Given the description of an element on the screen output the (x, y) to click on. 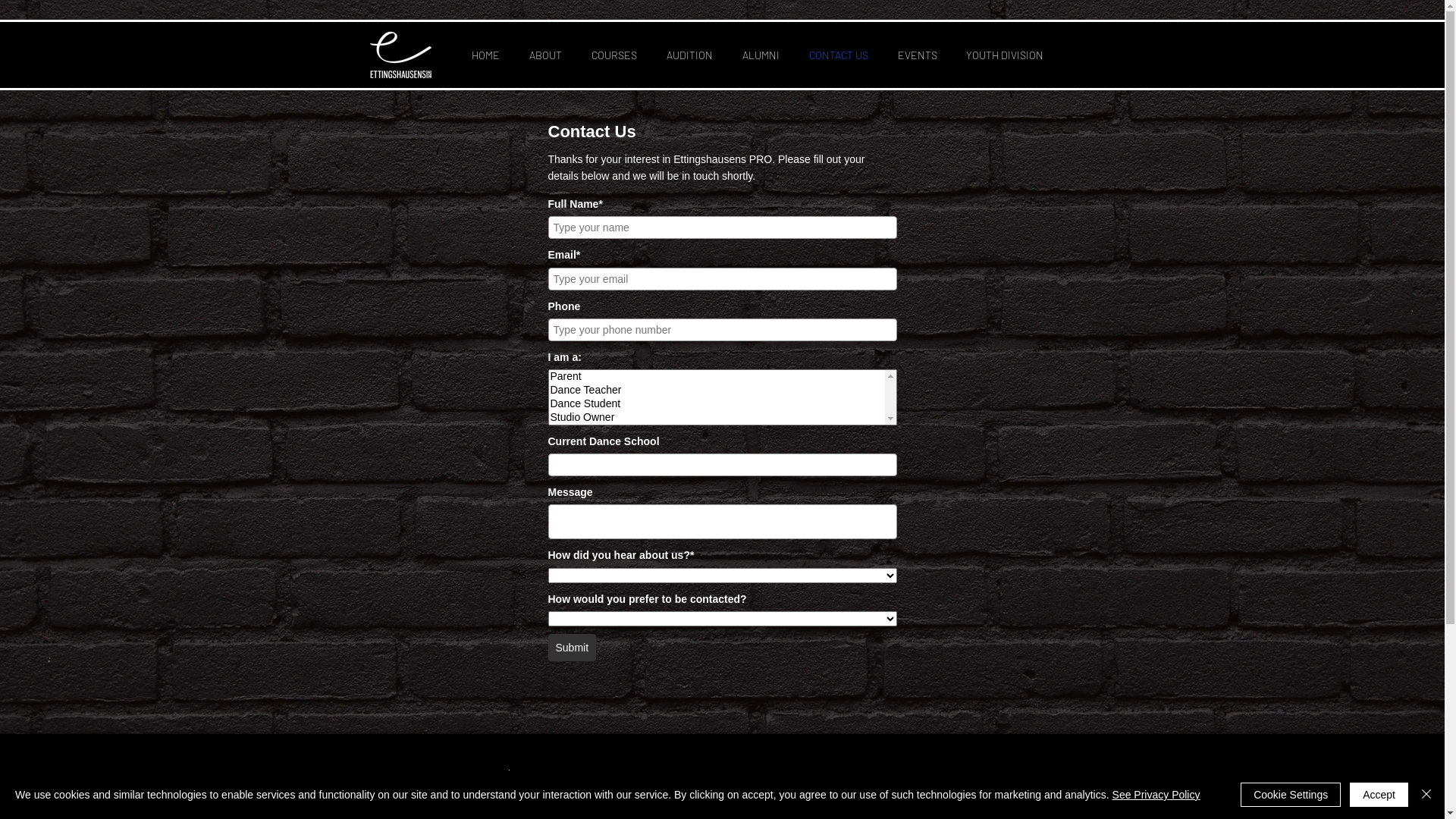
ALUMNI Element type: text (761, 55)
EVENTS Element type: text (916, 55)
programs@ettingshausens.com.au Element type: text (625, 801)
HOME Element type: text (485, 55)
YOUTH DIVISION Element type: text (1003, 55)
ABOUT Element type: text (545, 55)
CONTACT US Element type: text (838, 55)
AUDITION Element type: text (690, 55)
COURSES Element type: text (613, 55)
See Privacy Policy Element type: text (1156, 794)
Embedded Content Element type: hover (722, 411)
Cookie Settings Element type: text (1290, 794)
Accept Element type: text (1378, 794)
